Given the description of an element on the screen output the (x, y) to click on. 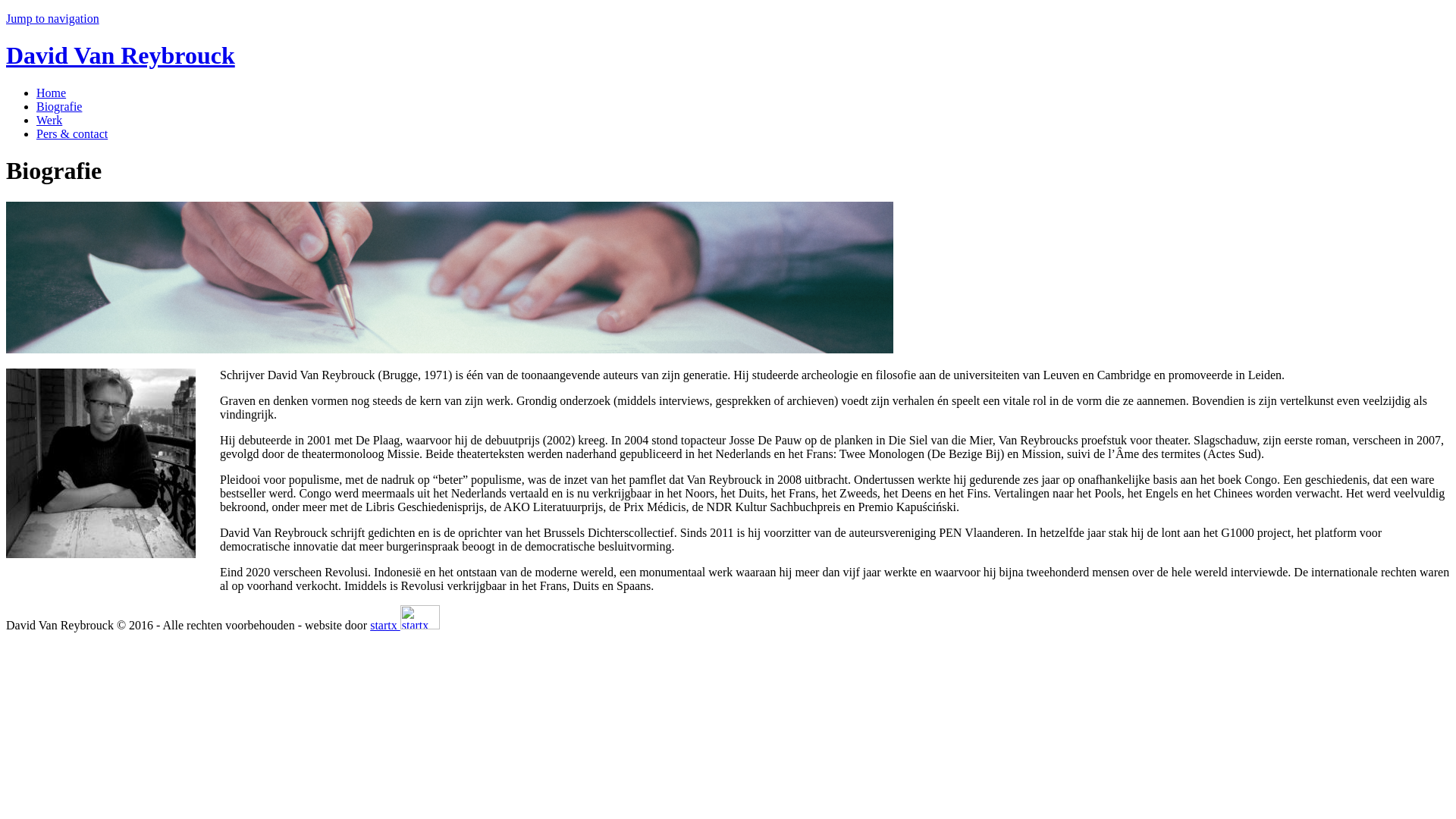
Biografie Element type: text (58, 106)
startx Element type: hover (419, 617)
Pers & contact Element type: text (71, 133)
startx Element type: text (404, 624)
David Van Reybrouck Element type: text (120, 55)
Werk Element type: text (49, 119)
Jump to navigation Element type: text (52, 18)
Home Element type: text (50, 92)
